Given the description of an element on the screen output the (x, y) to click on. 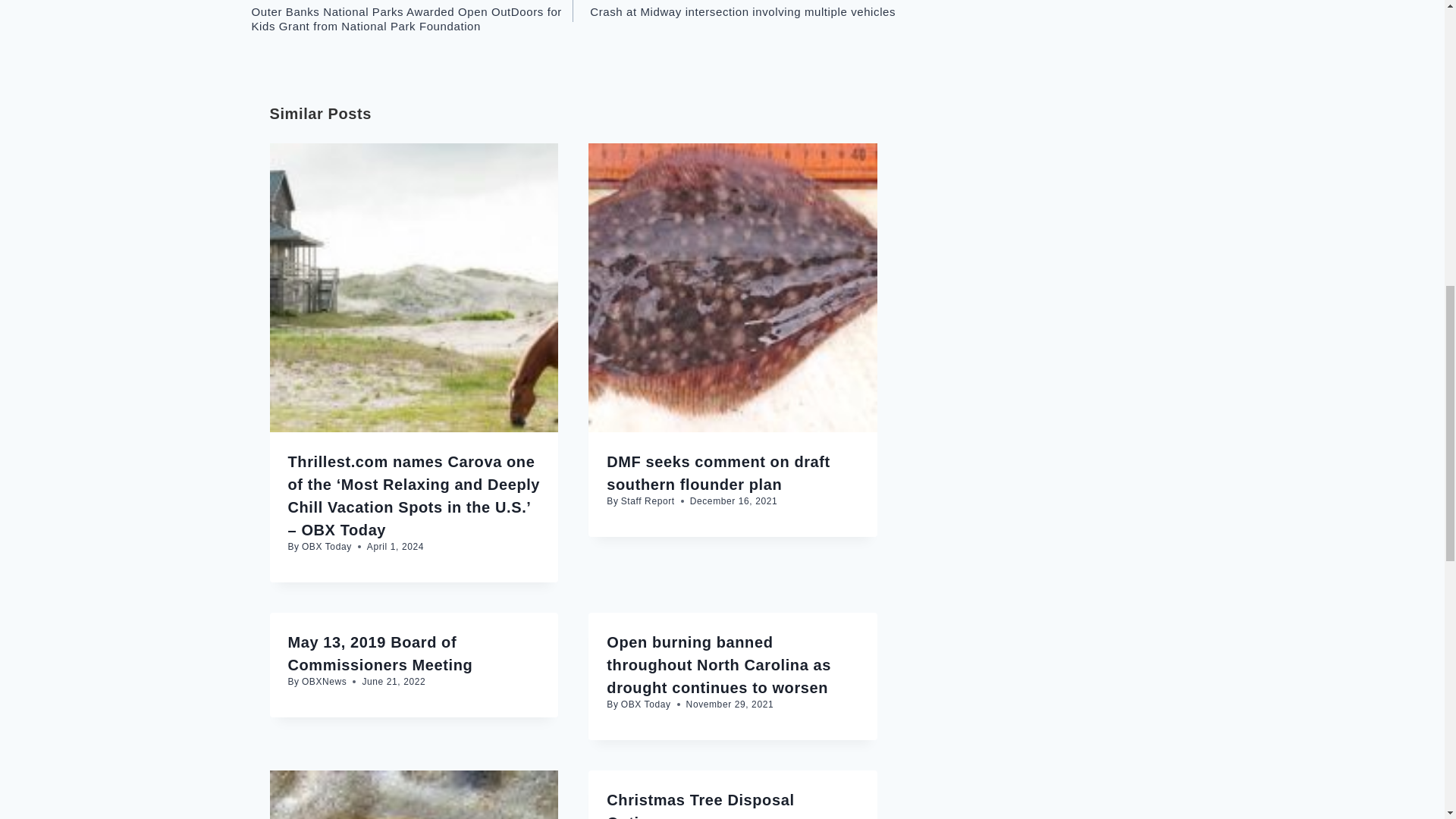
OBXNews (324, 681)
OBX Today (326, 546)
DMF seeks comment on draft southern flounder plan (718, 473)
May 13, 2019 Board of Commissioners Meeting (380, 653)
Staff Report (648, 501)
